Given the description of an element on the screen output the (x, y) to click on. 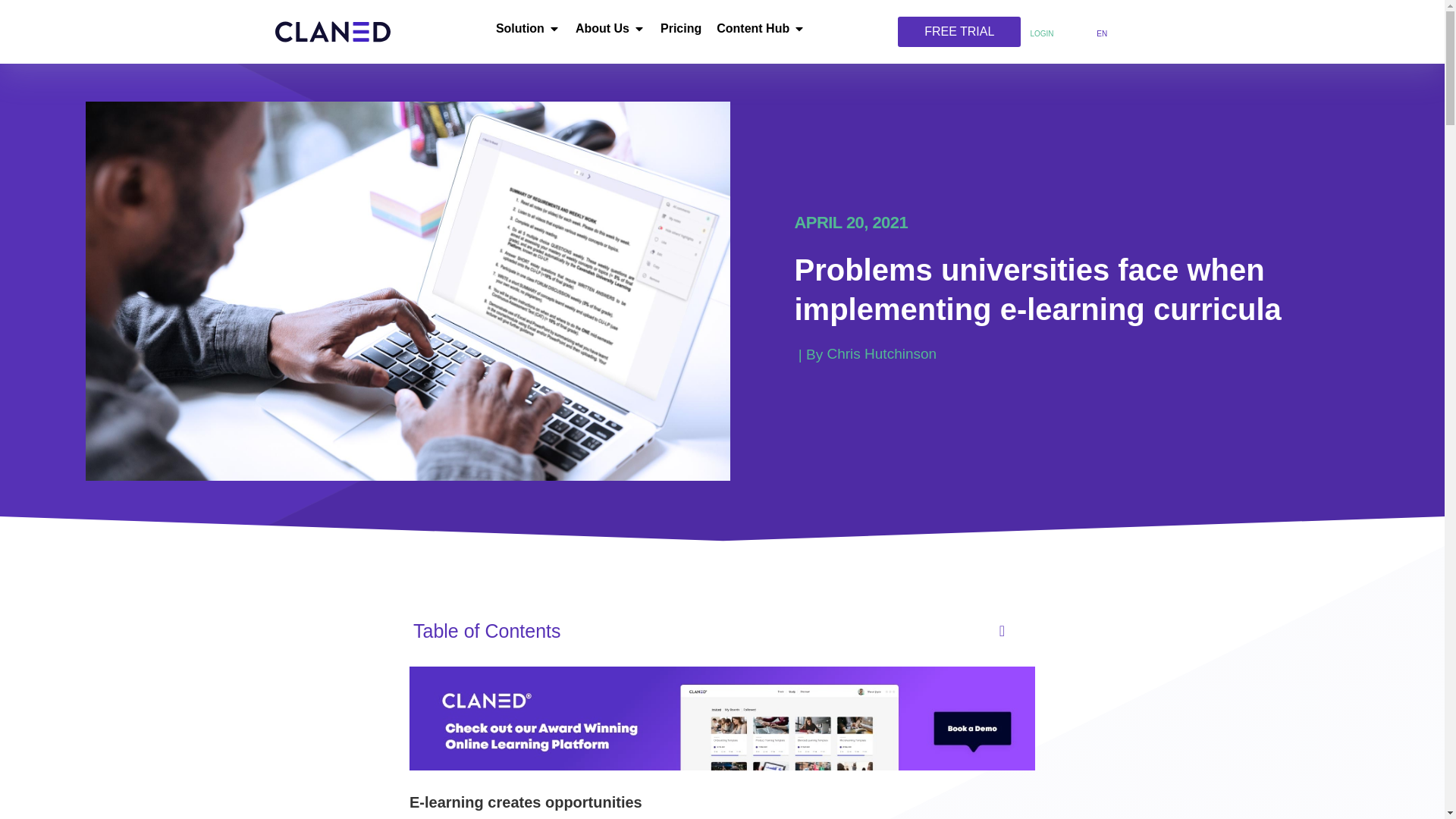
LOGIN (1040, 32)
FREE TRIAL (959, 31)
Pricing (681, 28)
EN (1097, 32)
